Given the description of an element on the screen output the (x, y) to click on. 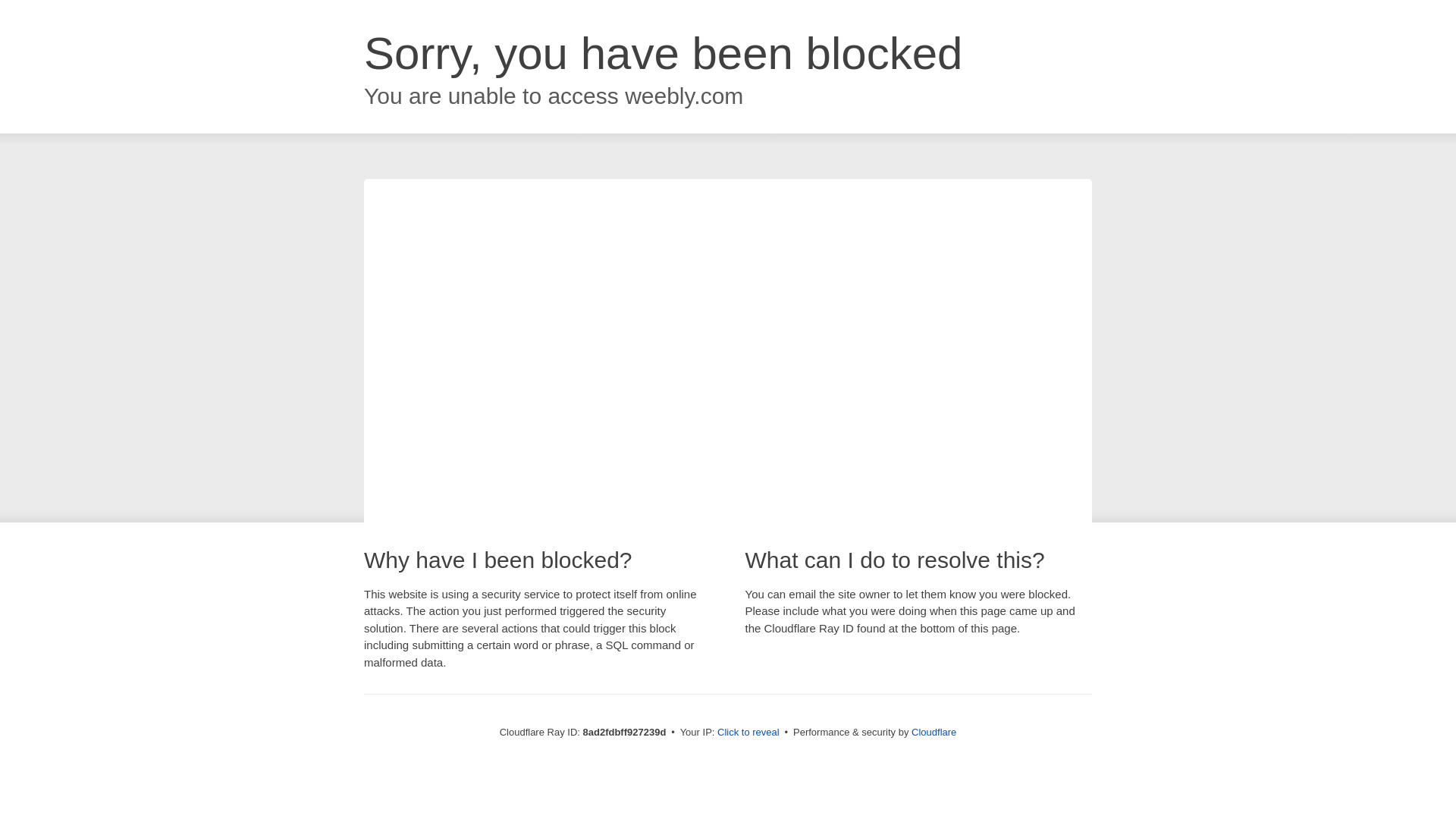
Cloudflare (933, 731)
Click to reveal (747, 732)
